Given the description of an element on the screen output the (x, y) to click on. 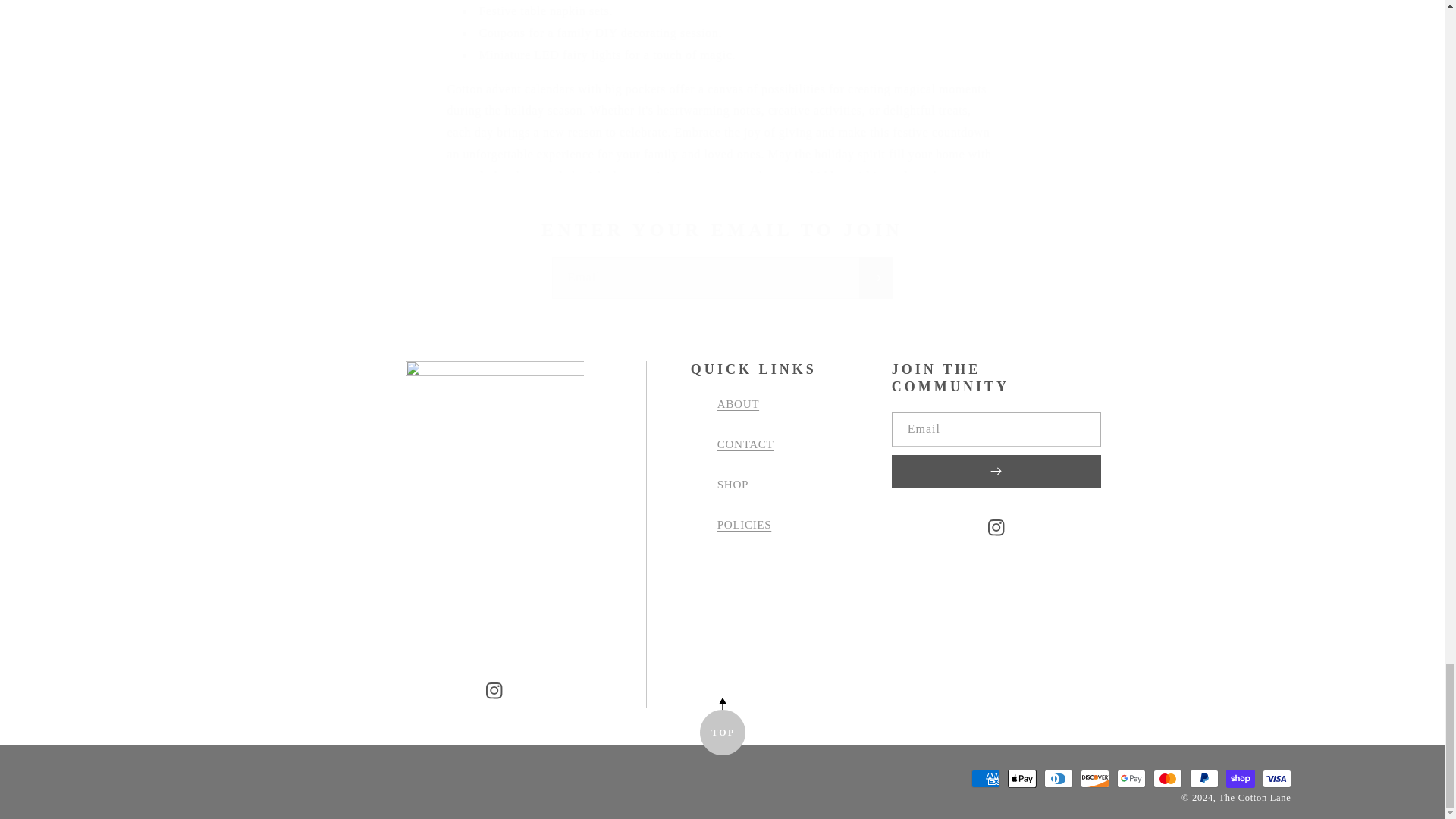
TOP (721, 732)
Email (722, 277)
INSTAGRAM (494, 690)
ENTER YOUR EMAIL TO JOIN (721, 229)
TOP (721, 732)
ABOUT (738, 410)
